Given the description of an element on the screen output the (x, y) to click on. 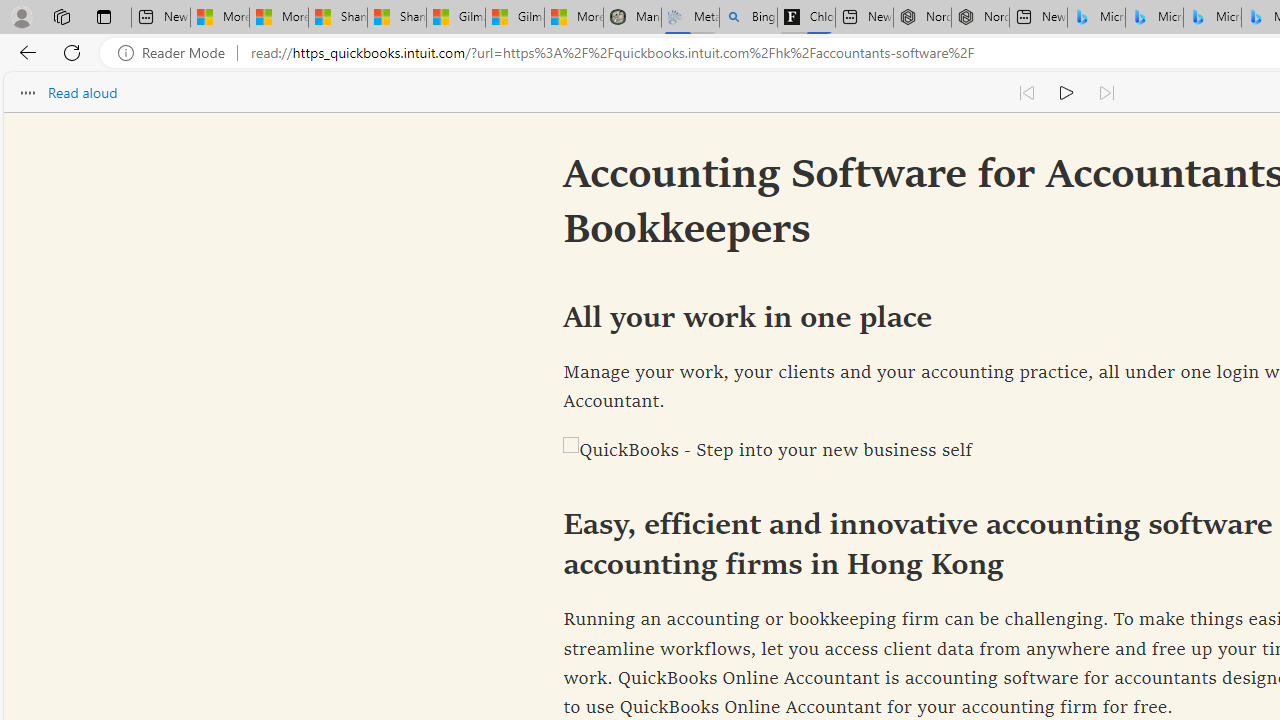
Continue to read aloud (Ctrl+Shift+U) (1065, 92)
Manatee Mortality Statistics | FWC (632, 17)
Reader Mode (177, 53)
